Given the description of an element on the screen output the (x, y) to click on. 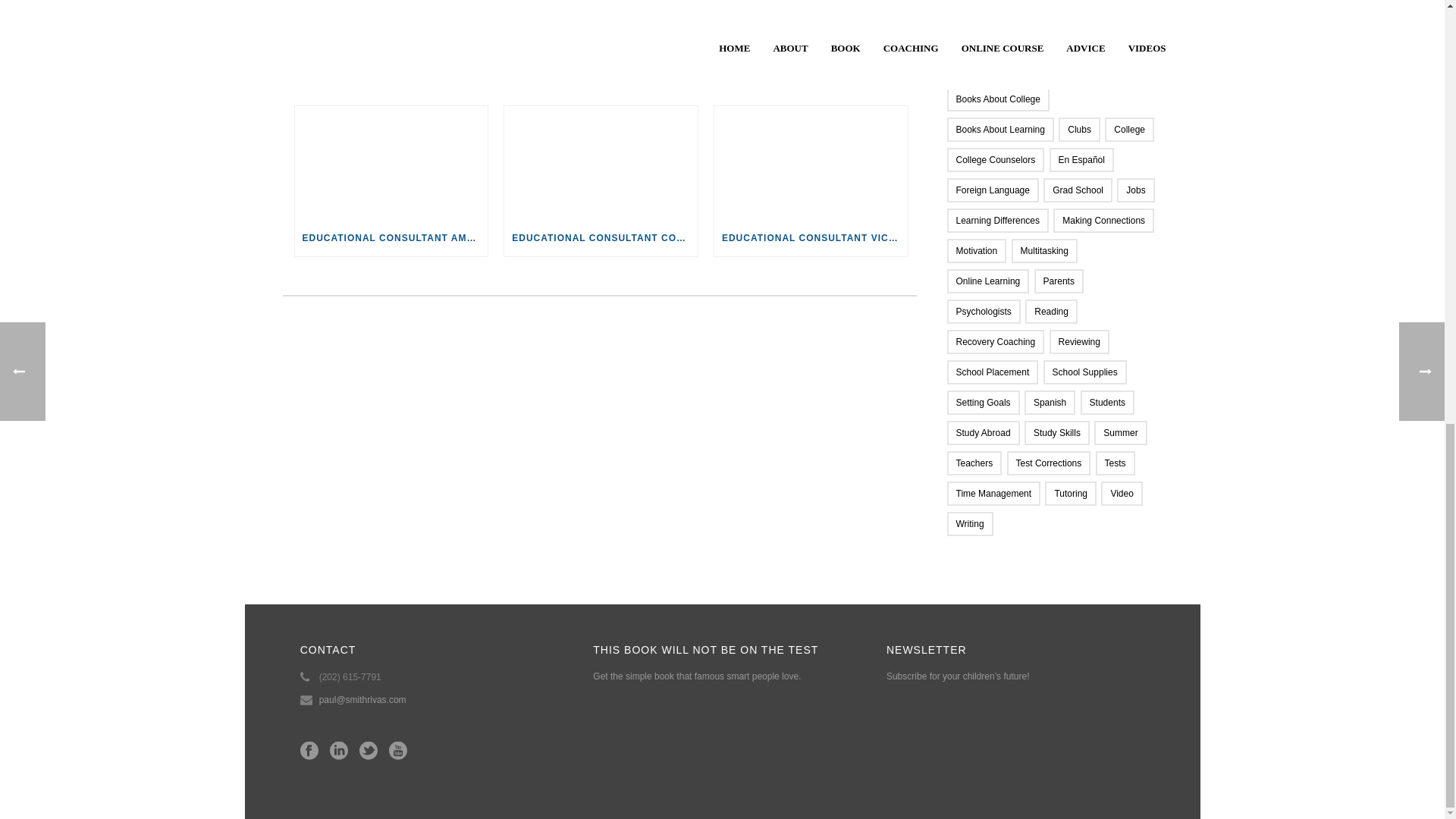
Follow me on Twitter (352, 4)
Get in touch with me via email (372, 4)
Educational Consultant Victoria Tillson Evans (810, 163)
Educational Consultant Amy Bryant (390, 163)
Get smarter by following us on facebook (308, 751)
Get smarter by following us on twitter (368, 751)
EDUCATIONAL CONSULTANT AMY BRYANT (390, 238)
Get smarter by following us on linkedin (338, 751)
Educational Consultant Colleen Ganjian (600, 163)
EDUCATIONAL CONSULTANT COLLEEN GANJIAN (600, 238)
EDUCATIONAL CONSULTANT VICTORIA TILLSON EVANS (810, 238)
Get smarter by following us on youtube (397, 751)
